Given the description of an element on the screen output the (x, y) to click on. 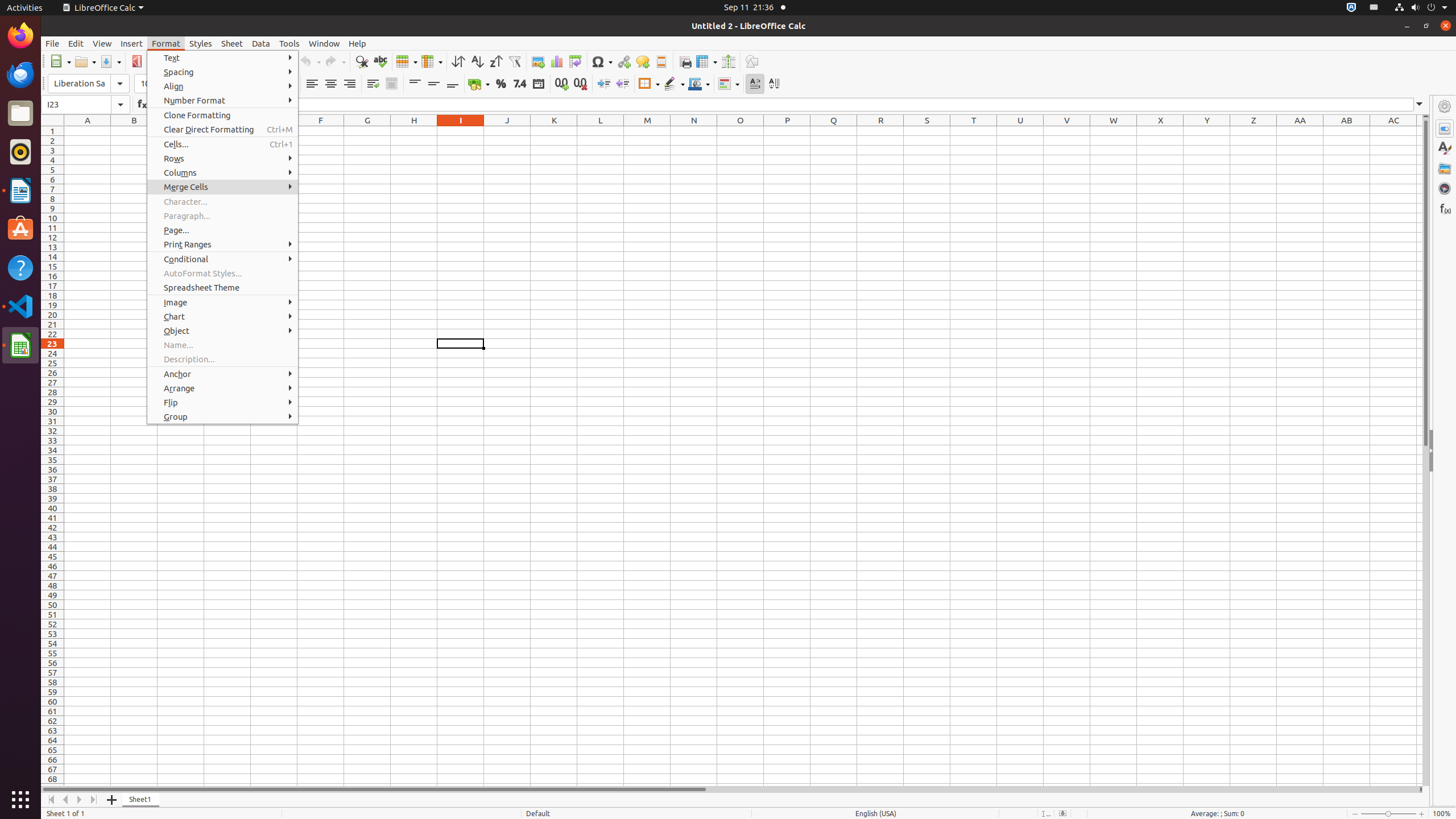
AutoFormat Styles... Element type: menu-item (222, 273)
Sort Element type: push-button (457, 61)
AutoFilter Element type: push-button (514, 61)
Number Element type: push-button (519, 83)
Align Center Element type: push-button (330, 83)
